Given the description of an element on the screen output the (x, y) to click on. 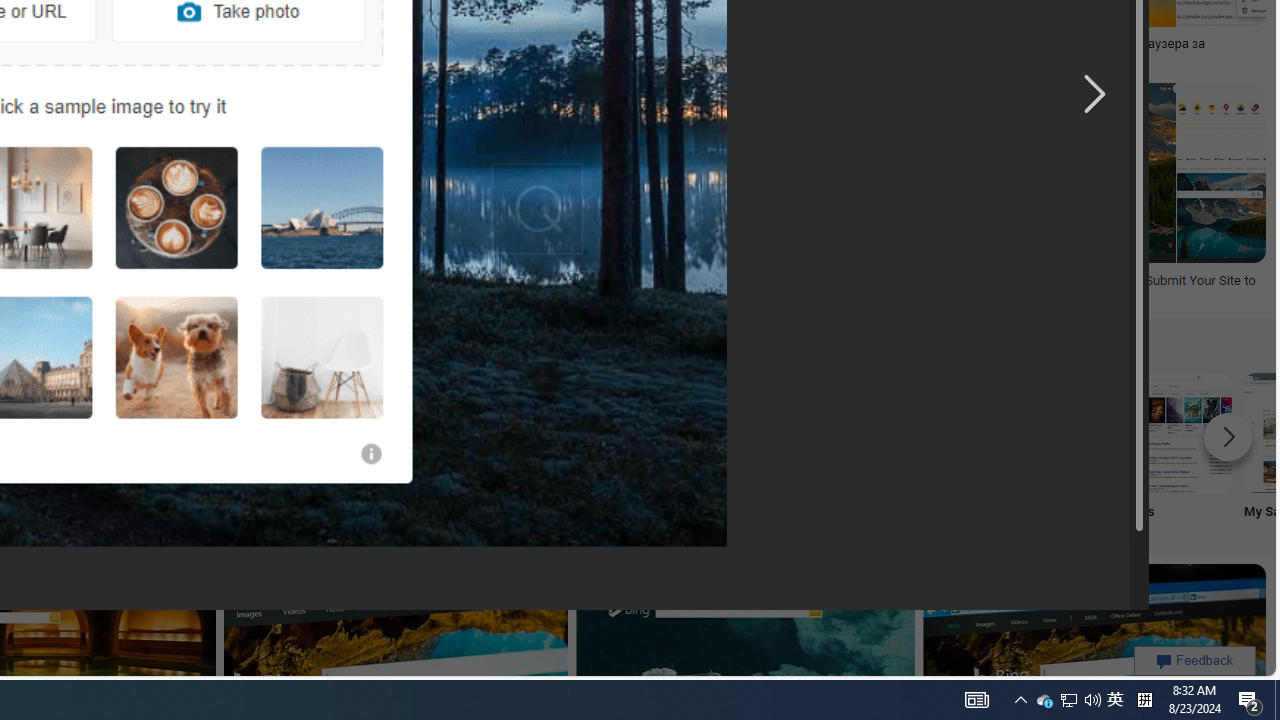
Bing the Search Engine Engine (248, 450)
Bing the Search Engine (248, 432)
New (775, 450)
Bing Search Tricks Tricks (1039, 450)
